Given the description of an element on the screen output the (x, y) to click on. 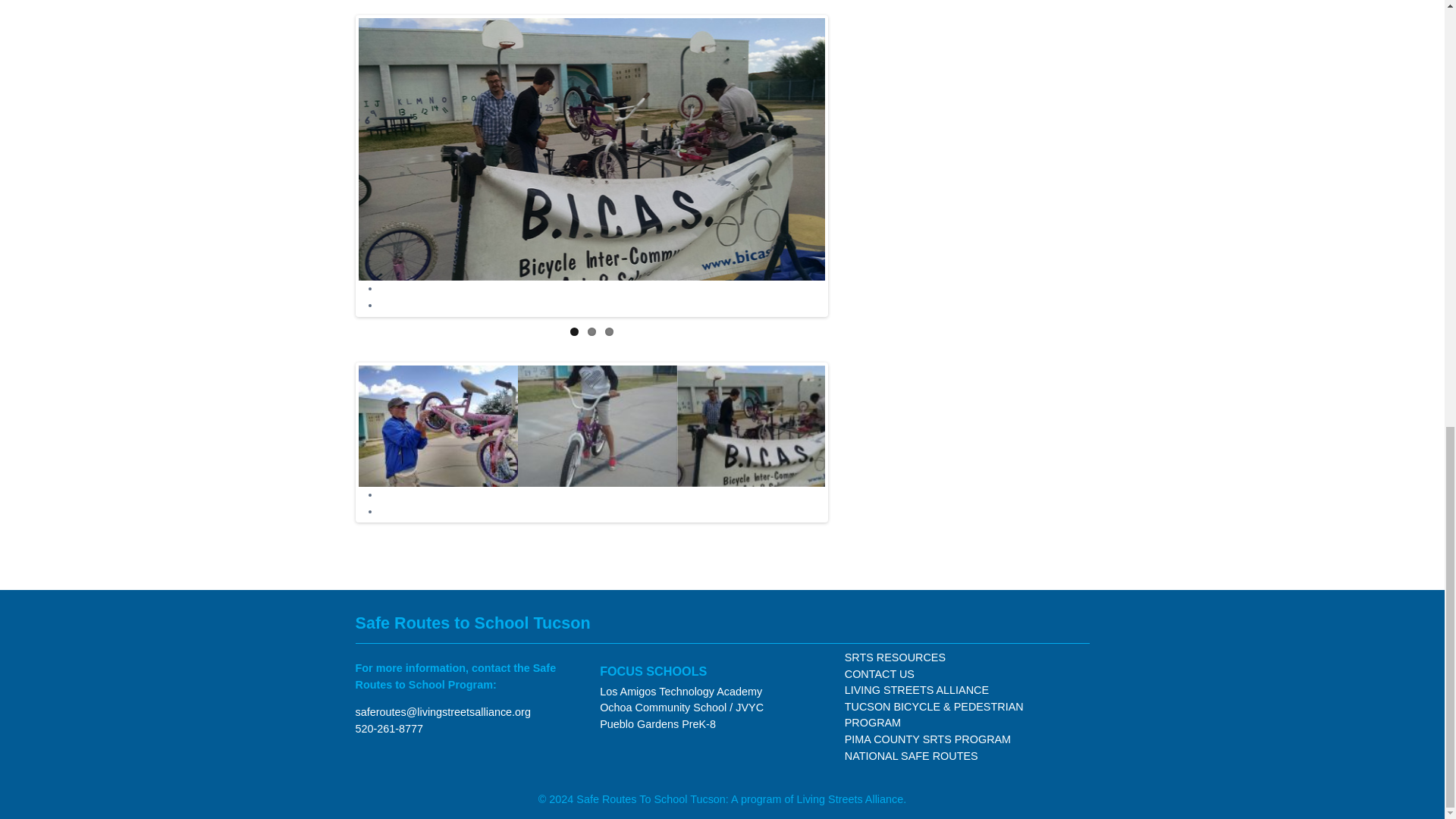
1 (574, 331)
3 (608, 331)
NATIONAL SAFE ROUTES (911, 756)
CONTACT US (879, 674)
SRTS RESOURCES (894, 657)
2 (591, 331)
Los Amigos Technology Academy (680, 691)
LIVING STREETS ALLIANCE (916, 689)
PIMA COUNTY SRTS PROGRAM (927, 739)
Resources (894, 657)
Pueblo Gardens PreK-8 (657, 724)
